Given the description of an element on the screen output the (x, y) to click on. 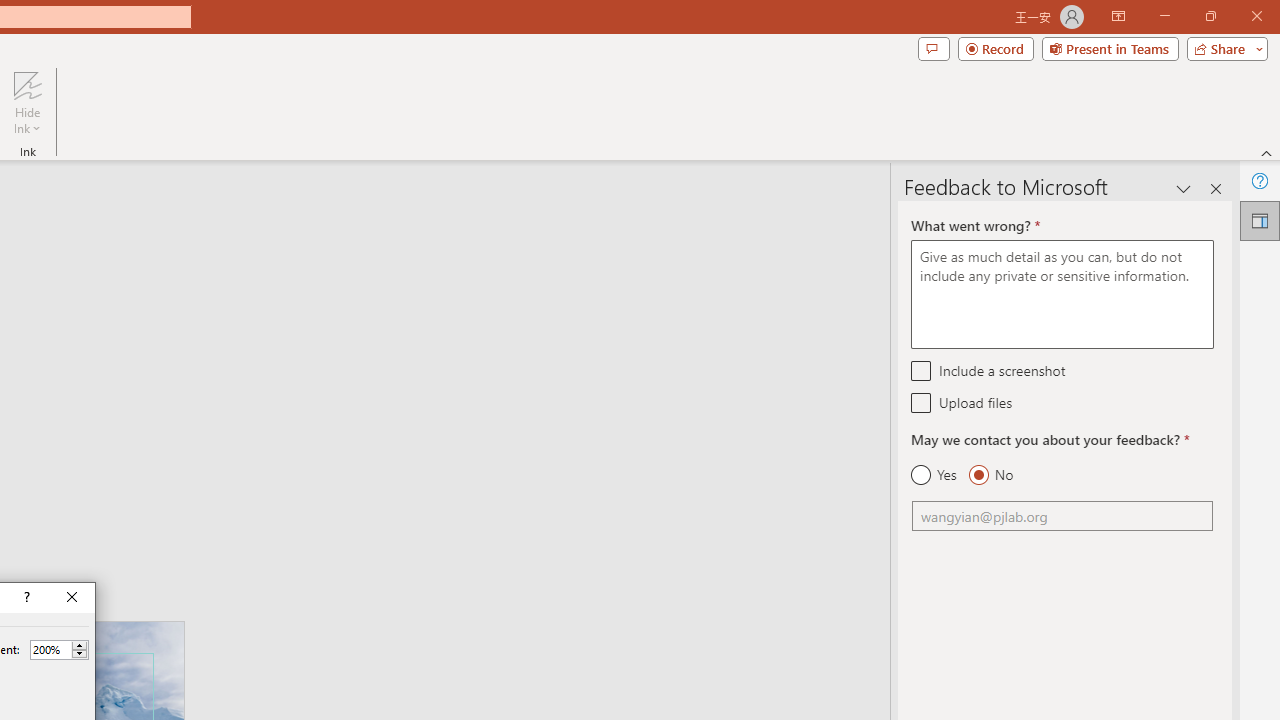
Email (1062, 516)
Include a screenshot (921, 370)
Percent (50, 649)
